Given the description of an element on the screen output the (x, y) to click on. 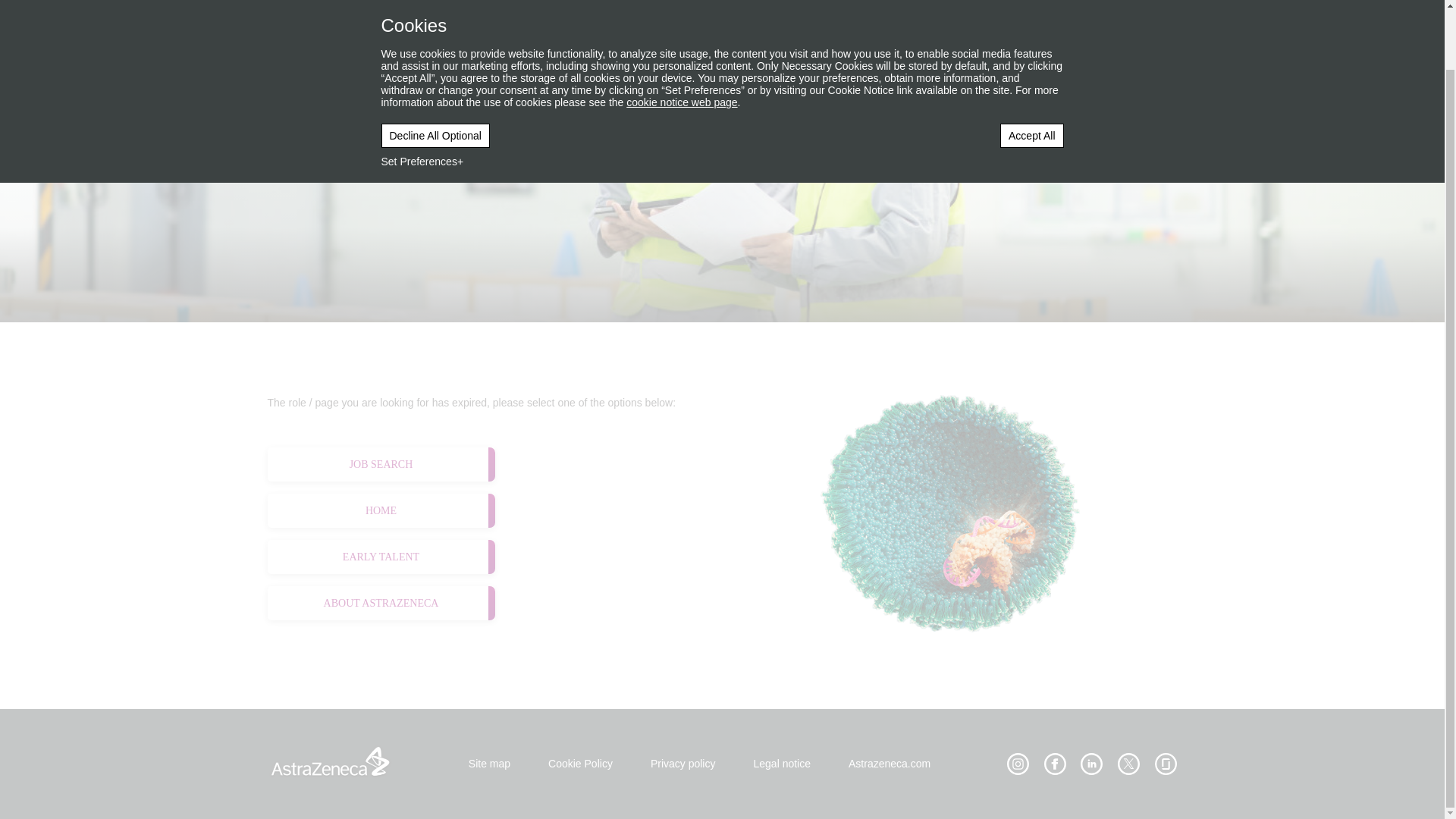
Cookie Policy (580, 763)
Privacy policy (781, 763)
Legal notice (781, 763)
Site map (489, 763)
twitter (1129, 763)
AstraZeneca global site (889, 763)
ABOUT ASTRAZENECA (380, 602)
HOME (380, 510)
Site map (489, 763)
JOB SEARCH (380, 464)
